Given the description of an element on the screen output the (x, y) to click on. 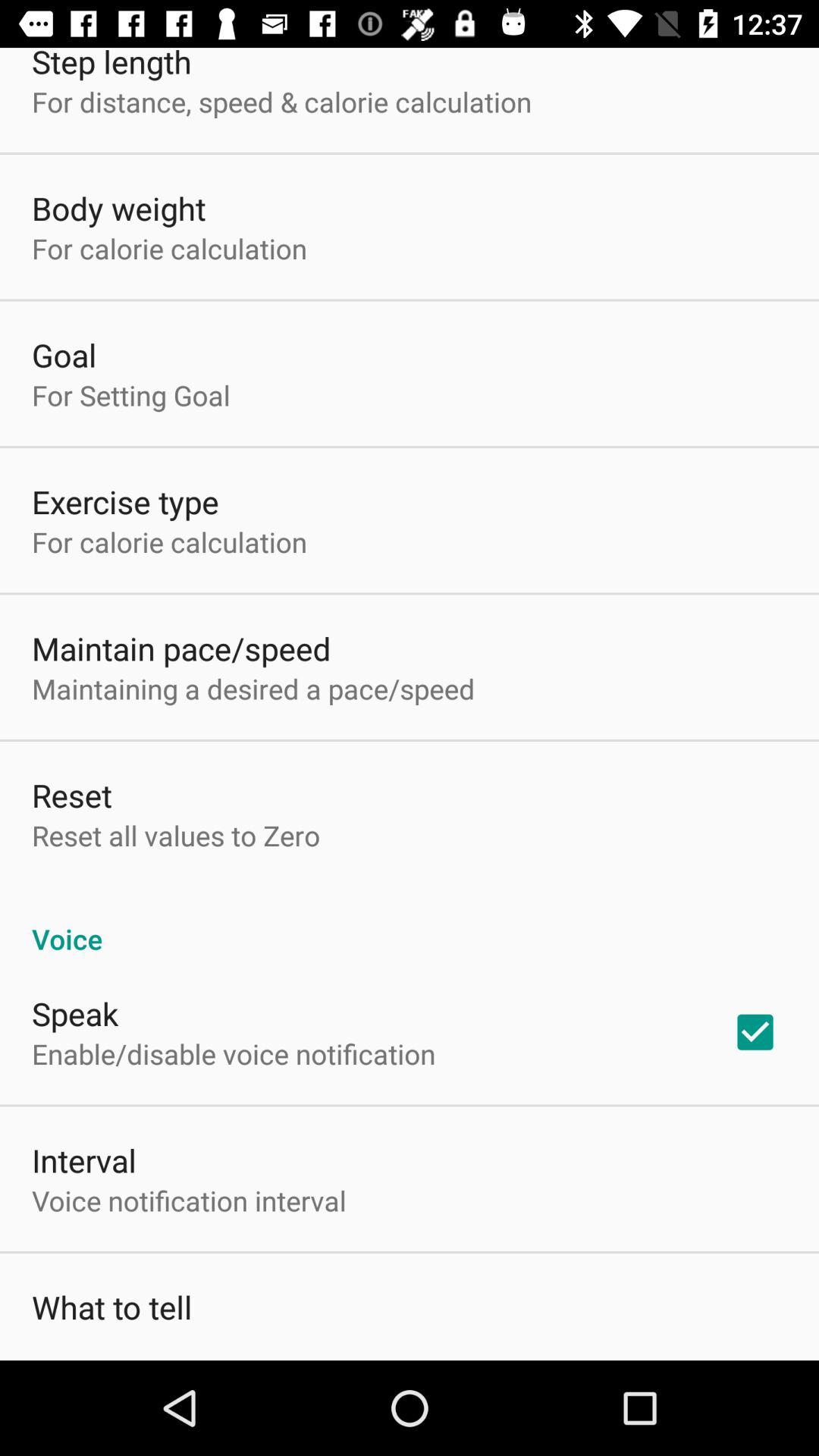
open app below the voice icon (755, 1032)
